Given the description of an element on the screen output the (x, y) to click on. 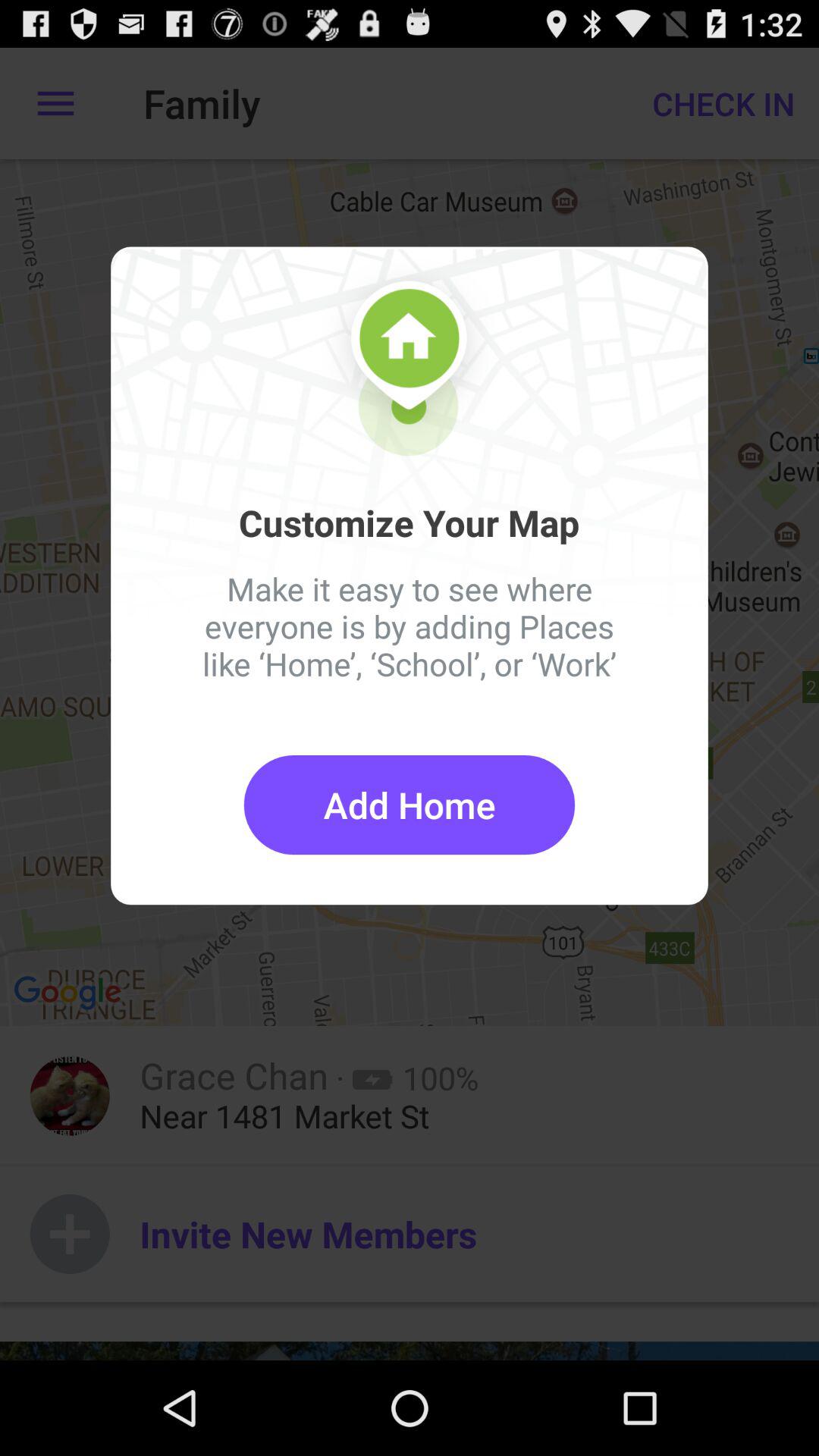
press add home icon (409, 804)
